Given the description of an element on the screen output the (x, y) to click on. 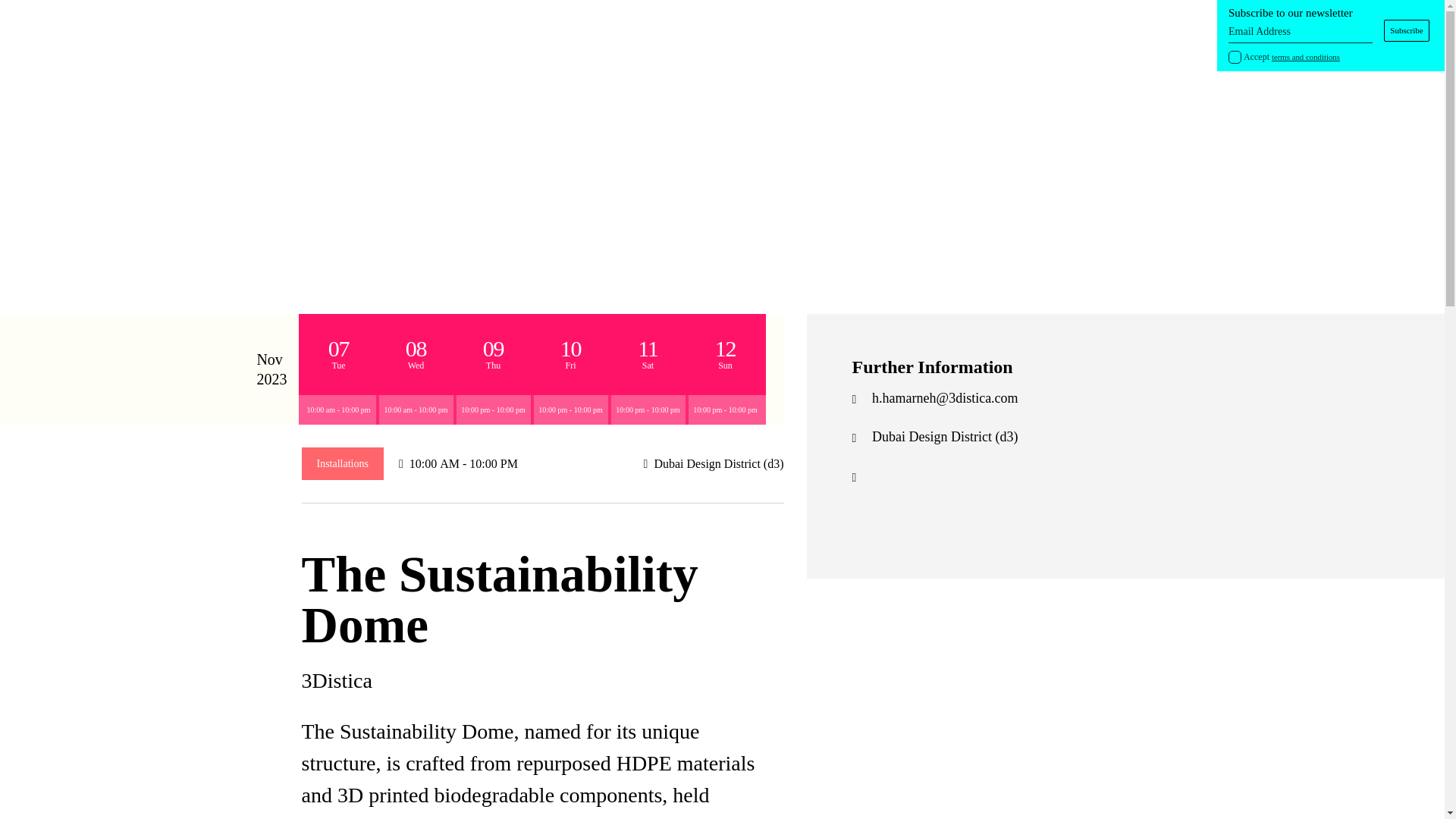
Subscribe (1406, 30)
  Add to my Favourites (360, 233)
Downtown Design (649, 30)
Revisit 2023 (545, 30)
terms and conditions (1305, 56)
Work With Us (817, 30)
Subscribe (1406, 30)
